Given the description of an element on the screen output the (x, y) to click on. 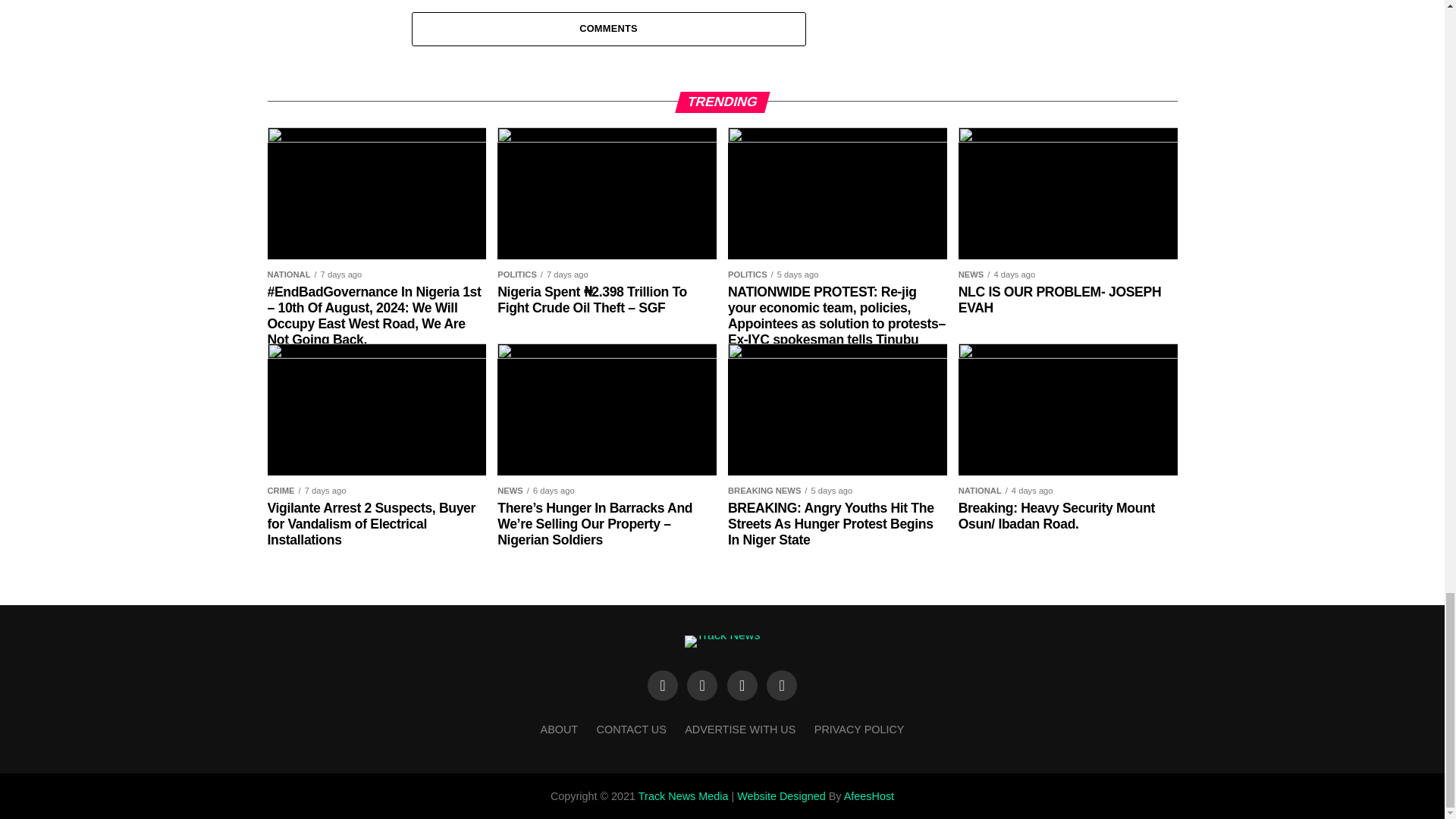
 Website Design Company in Nigeria. (780, 796)
Web hosting in Nigeria by AfeesHost. (868, 796)
